Given the description of an element on the screen output the (x, y) to click on. 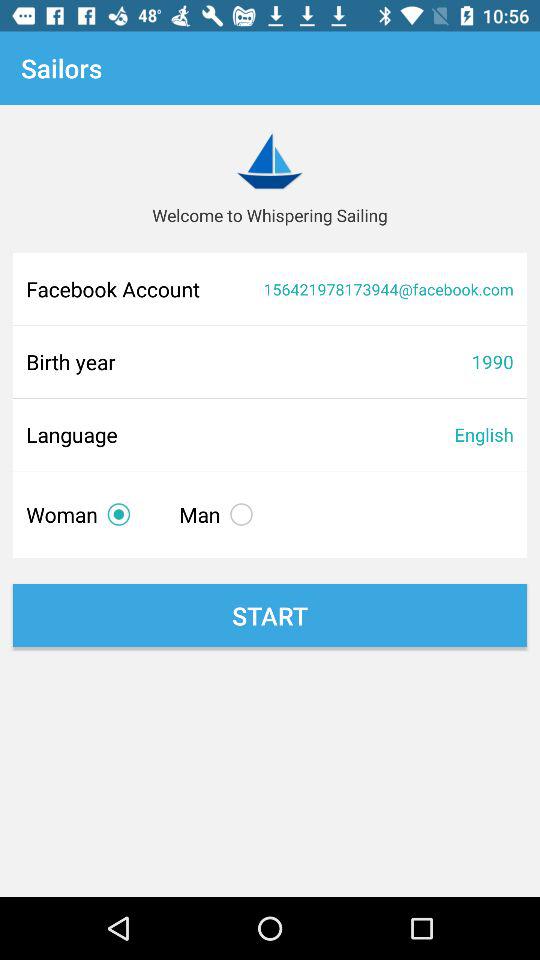
click the icon below woman item (269, 615)
